Given the description of an element on the screen output the (x, y) to click on. 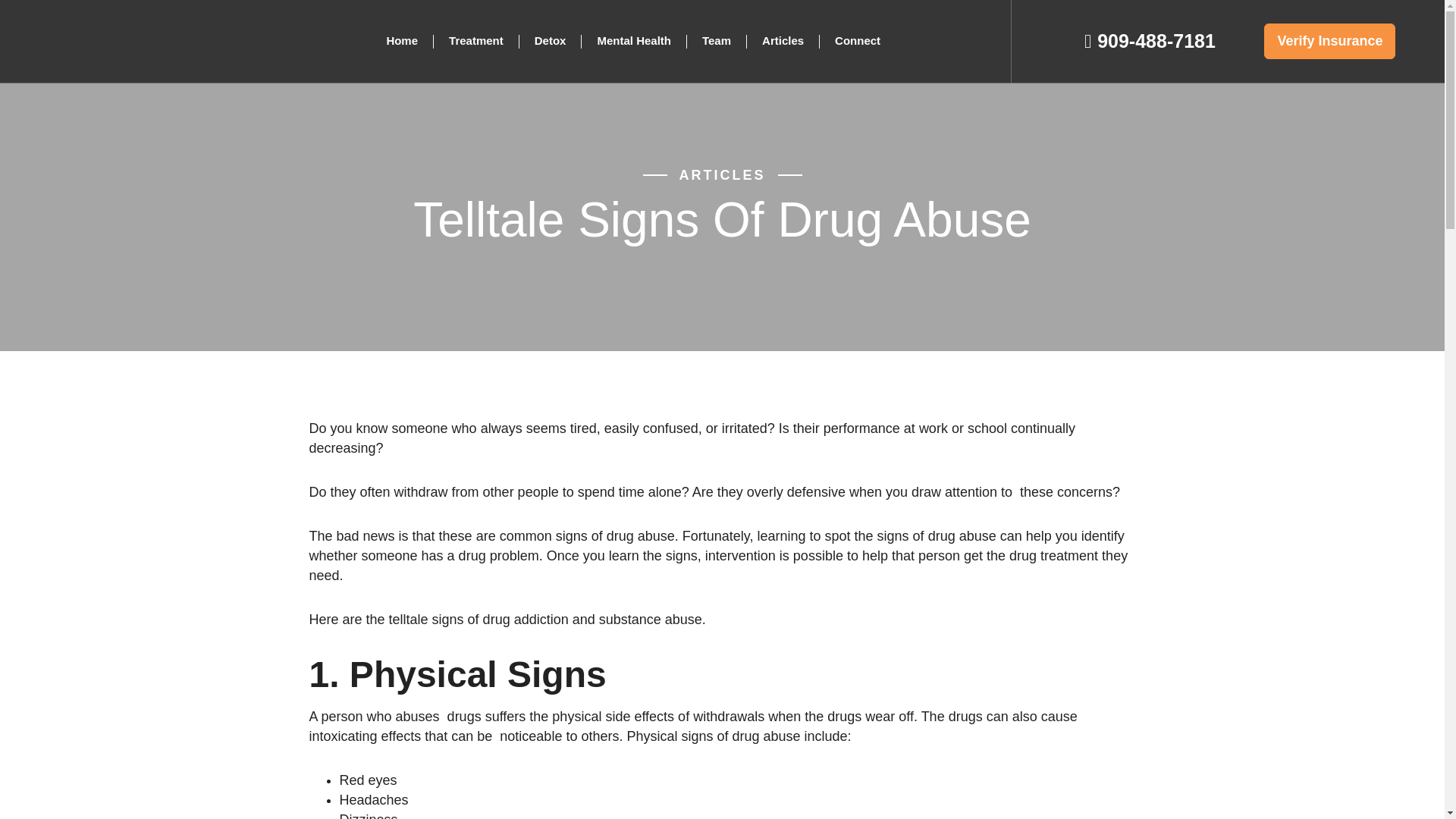
Connect (857, 40)
Mental Health (633, 40)
Verify Insurance (1328, 40)
Treatment (475, 40)
